Given the description of an element on the screen output the (x, y) to click on. 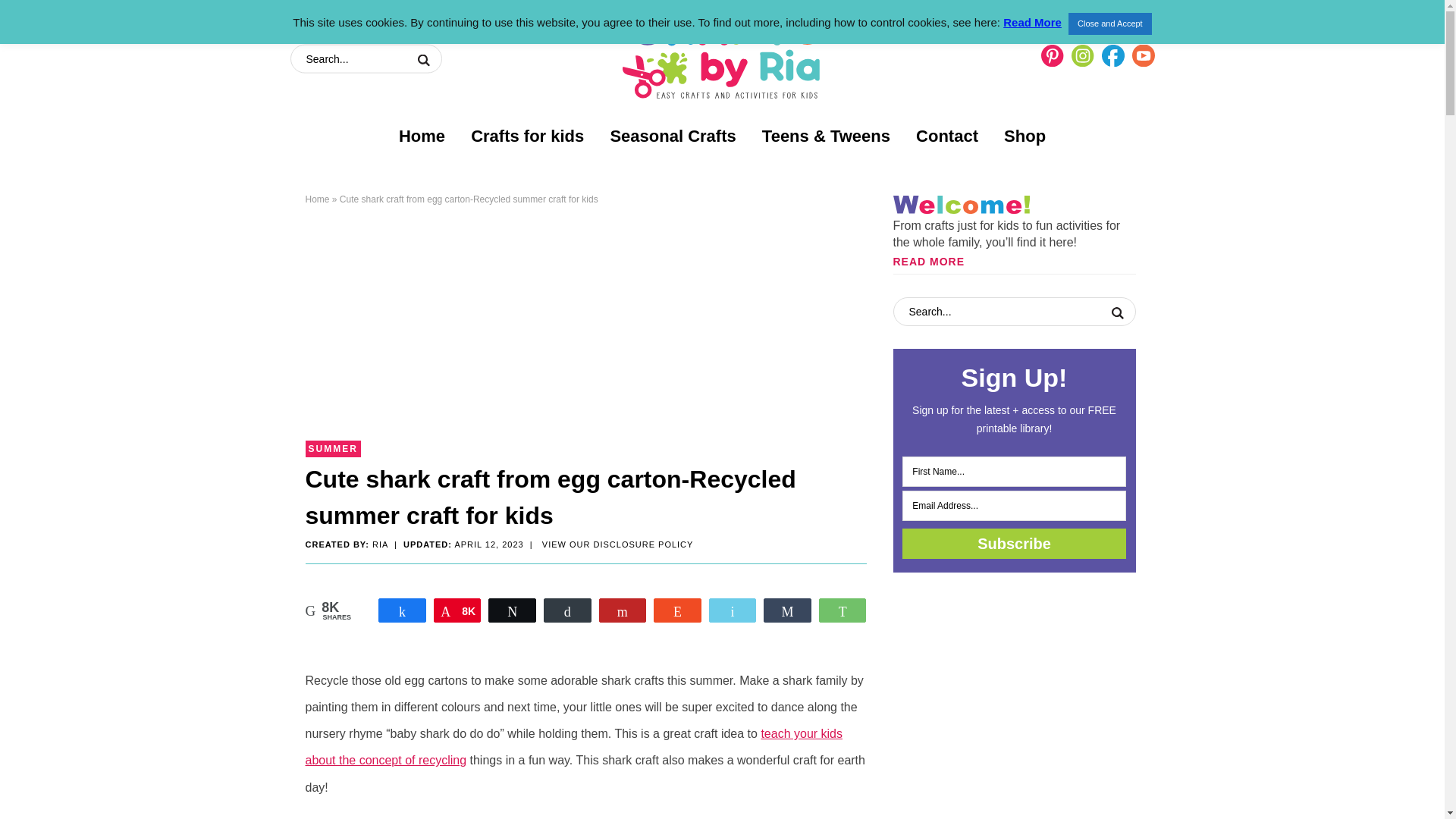
Advertisement (585, 328)
CRAFTS BY RIA (721, 52)
Crafts for kids (527, 136)
Home (421, 136)
Subscribe (1013, 543)
Advertisement (1014, 696)
